Given the description of an element on the screen output the (x, y) to click on. 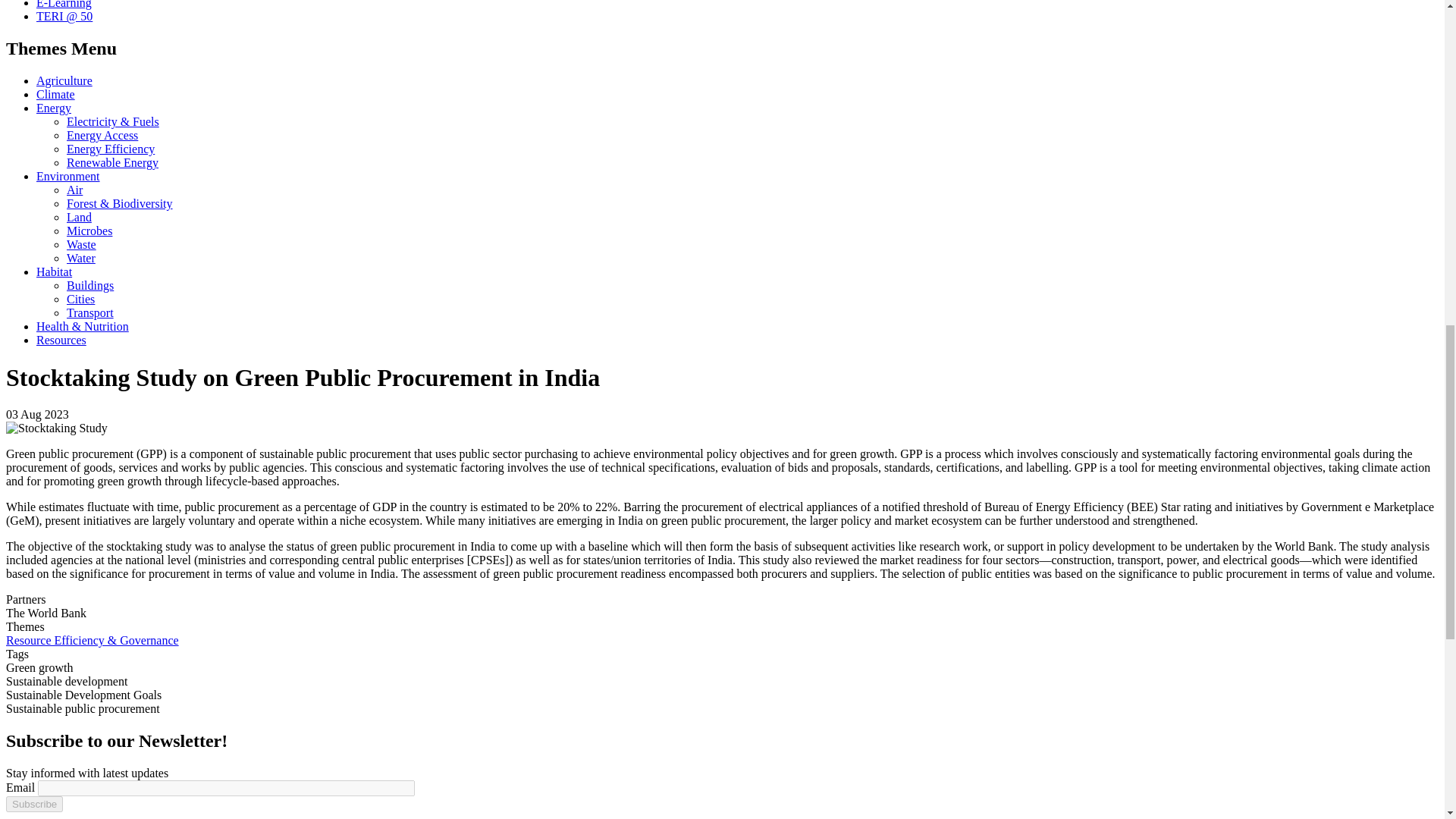
The subscriber's email address. (225, 788)
